Given the description of an element on the screen output the (x, y) to click on. 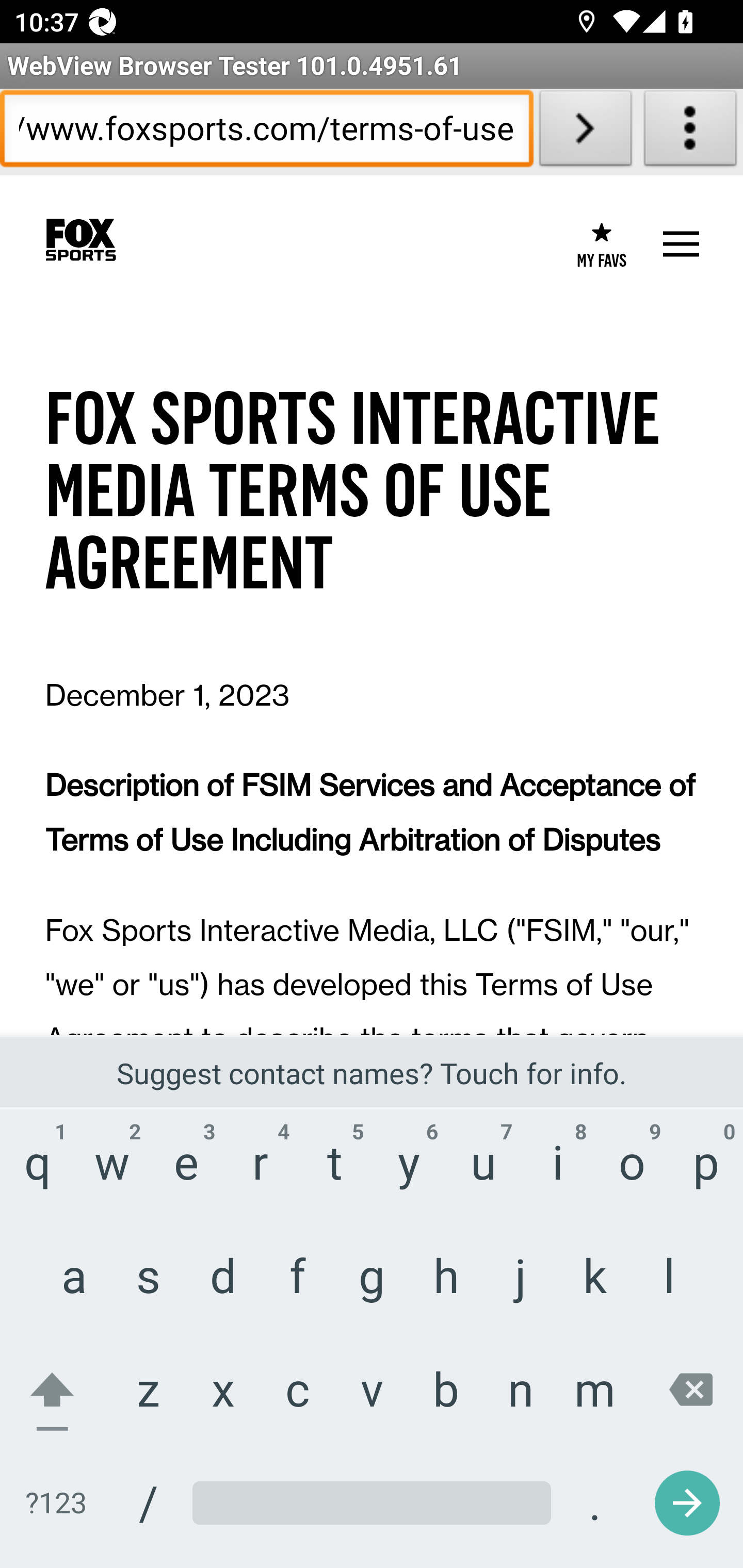
https://www.foxsports.com/terms-of-use (266, 132)
Load URL (585, 132)
About WebView (690, 132)
Home Page Link (80, 240)
